Given the description of an element on the screen output the (x, y) to click on. 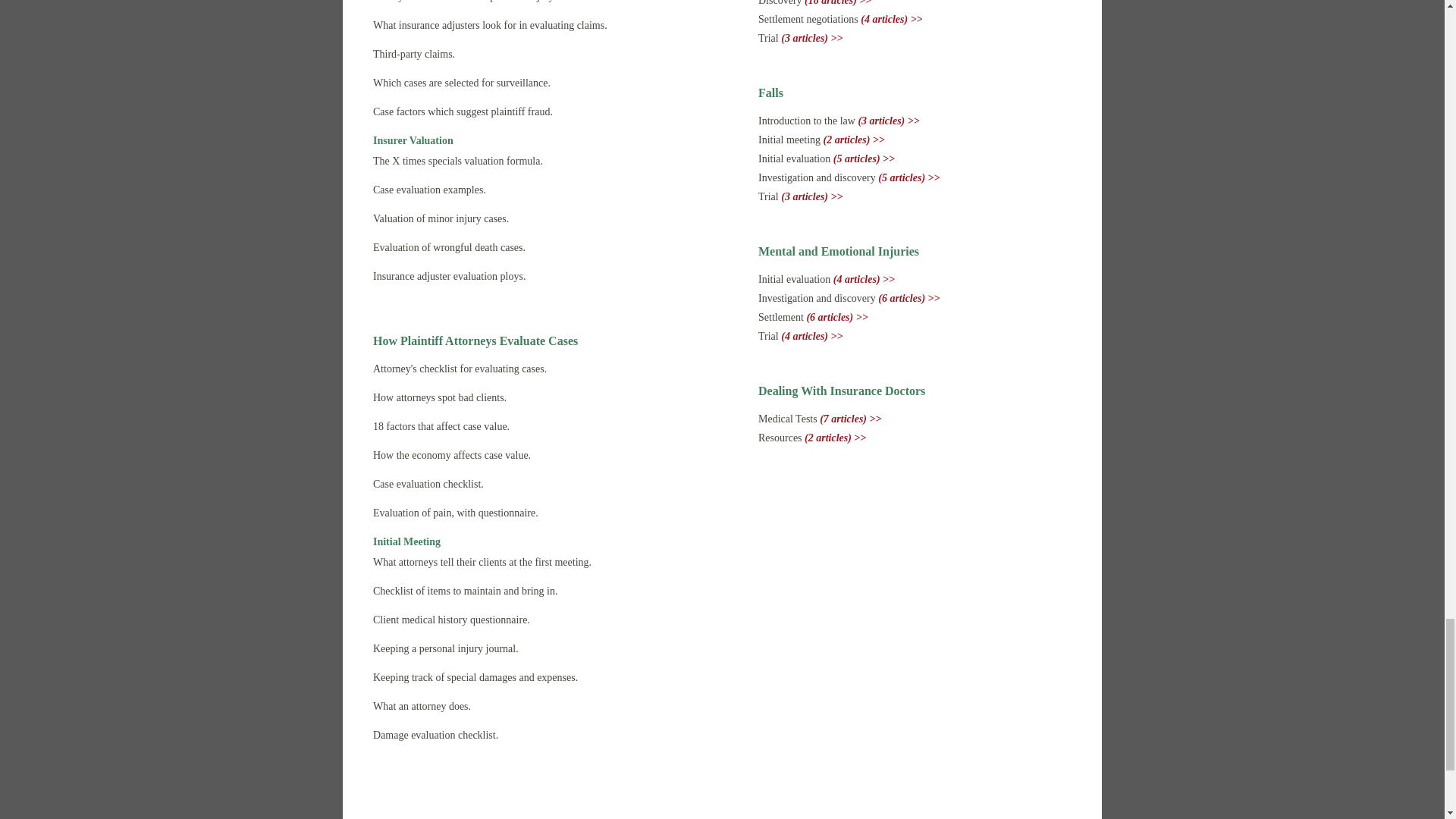
What insurance adjusters look for in evaluating claims. (489, 25)
